Given the description of an element on the screen output the (x, y) to click on. 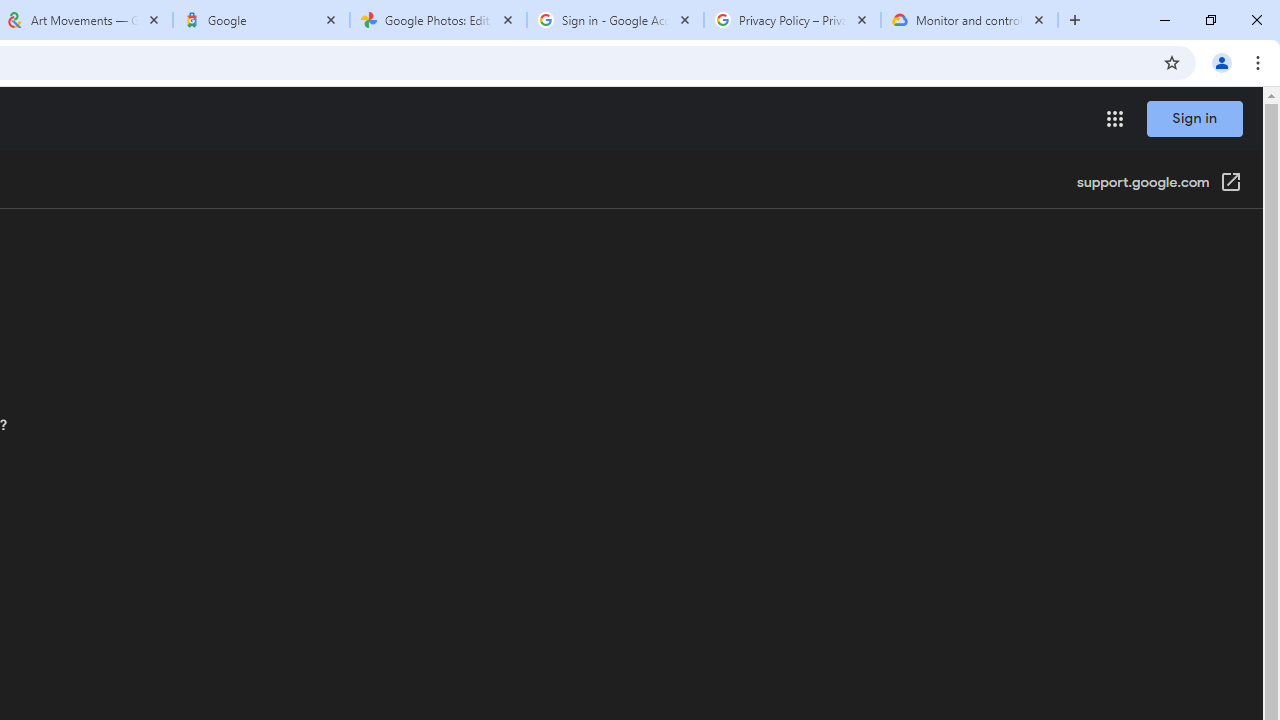
Sign in - Google Accounts (615, 20)
Google (260, 20)
support.google.com (Open in a new window) (1159, 183)
